Given the description of an element on the screen output the (x, y) to click on. 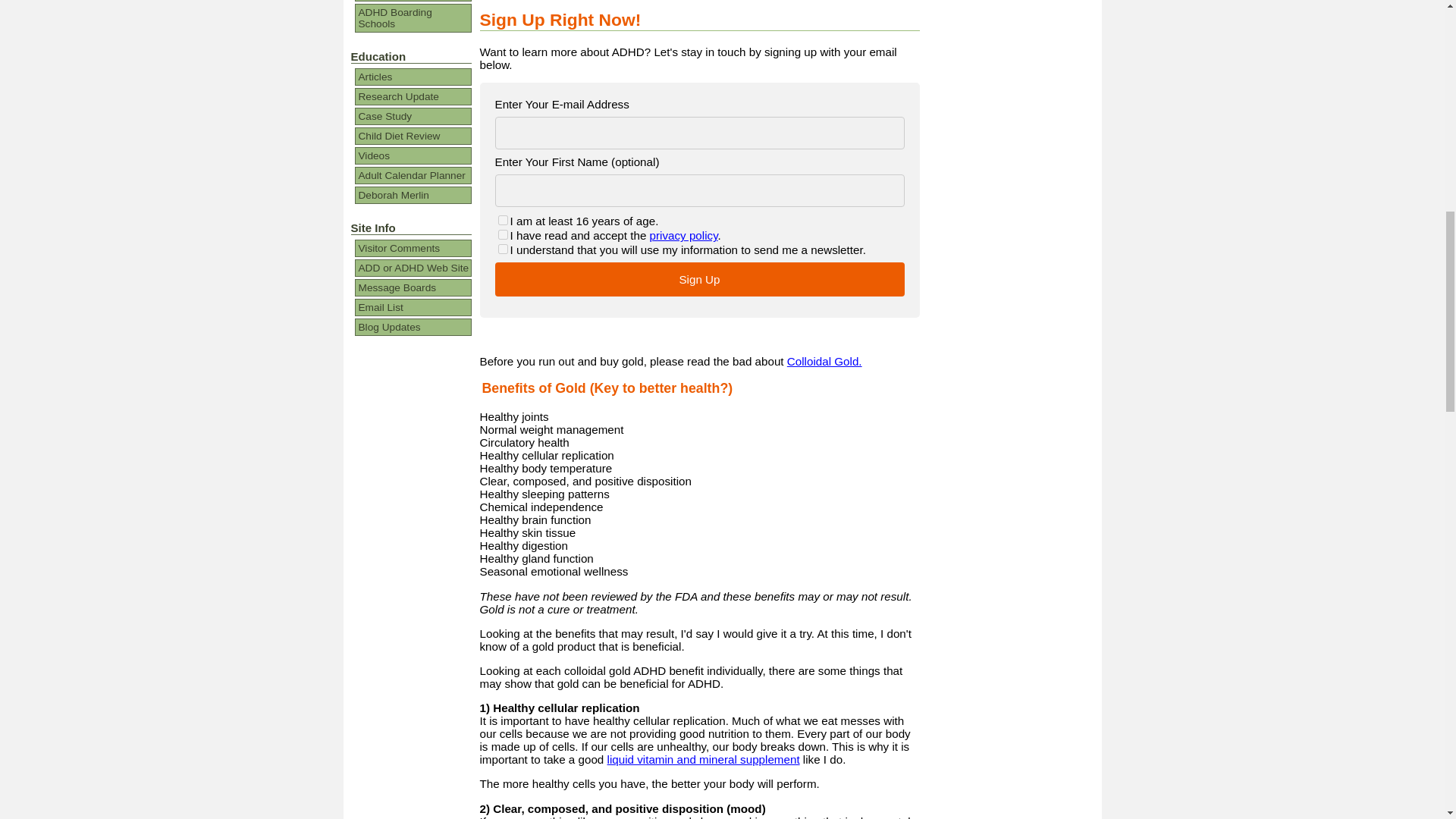
on (501, 220)
on (501, 248)
liquid vitamin and mineral supplement (703, 758)
Sign Up (699, 279)
on (501, 234)
Colloidal Gold. (824, 360)
privacy policy (683, 235)
